Given the description of an element on the screen output the (x, y) to click on. 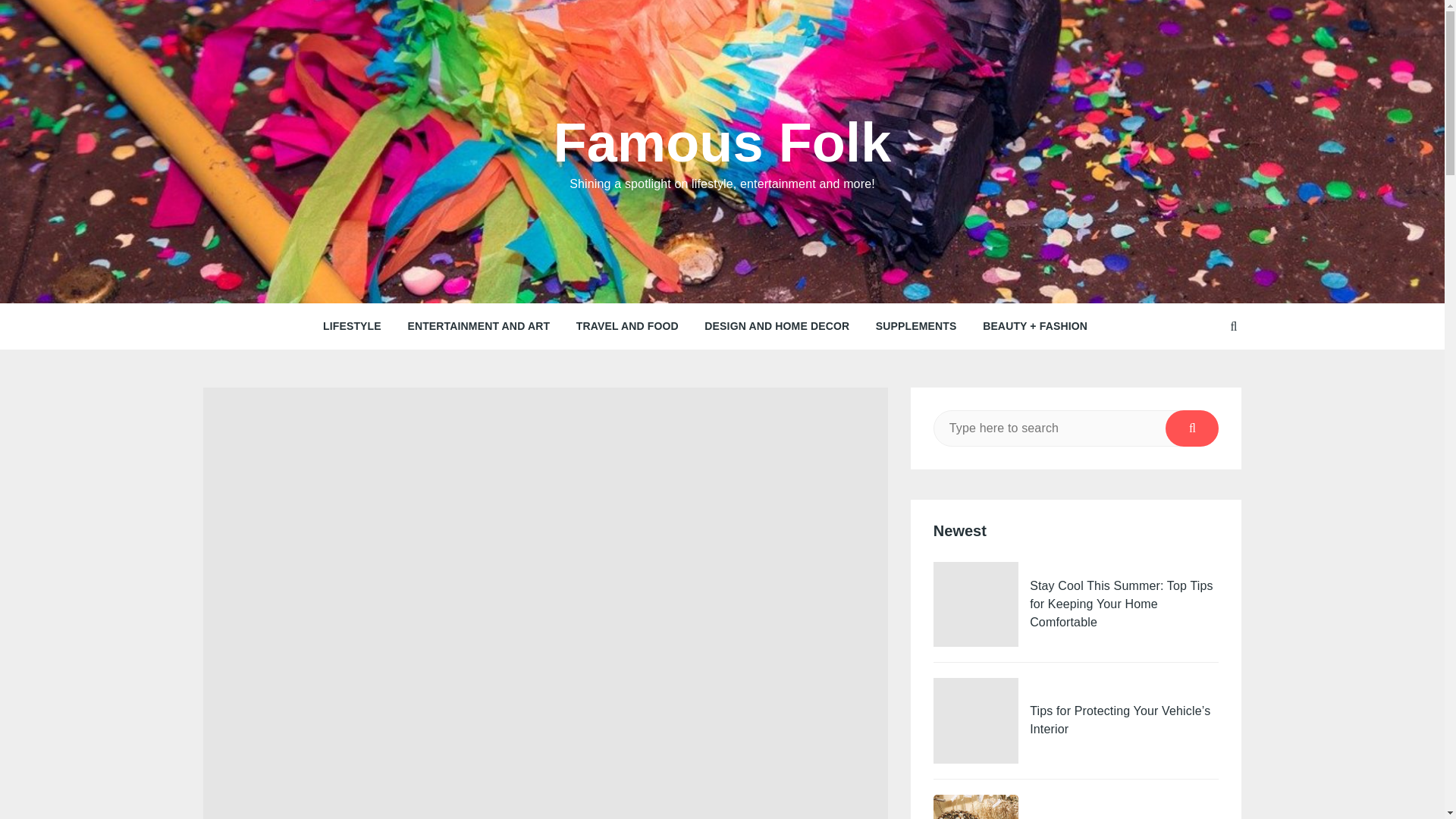
LIFESTYLE (352, 326)
TRAVEL AND FOOD (627, 326)
SUPPLEMENTS (916, 326)
DESIGN AND HOME DECOR (776, 326)
Famous Folk (722, 142)
ENTERTAINMENT AND ART (478, 326)
